Given the description of an element on the screen output the (x, y) to click on. 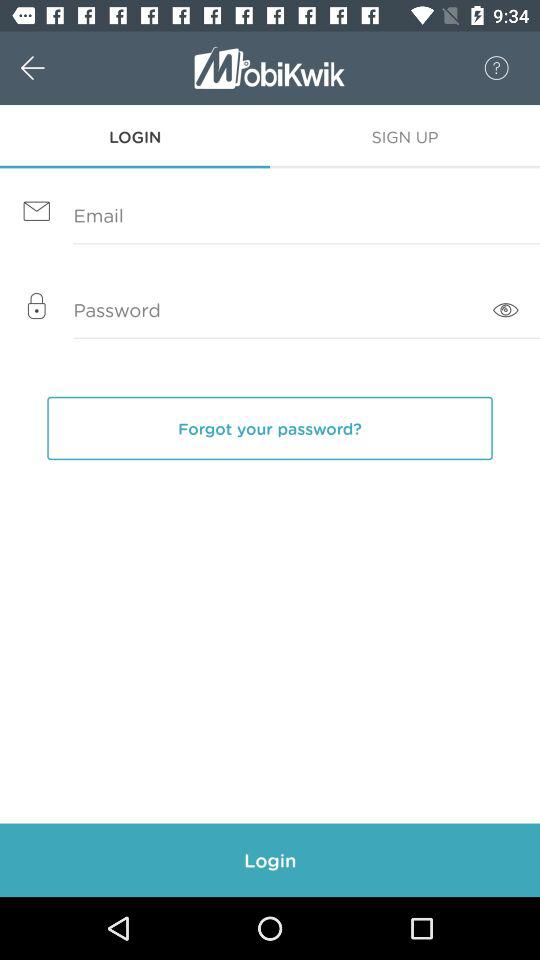
tap forgot your password? item (269, 428)
